Given the description of an element on the screen output the (x, y) to click on. 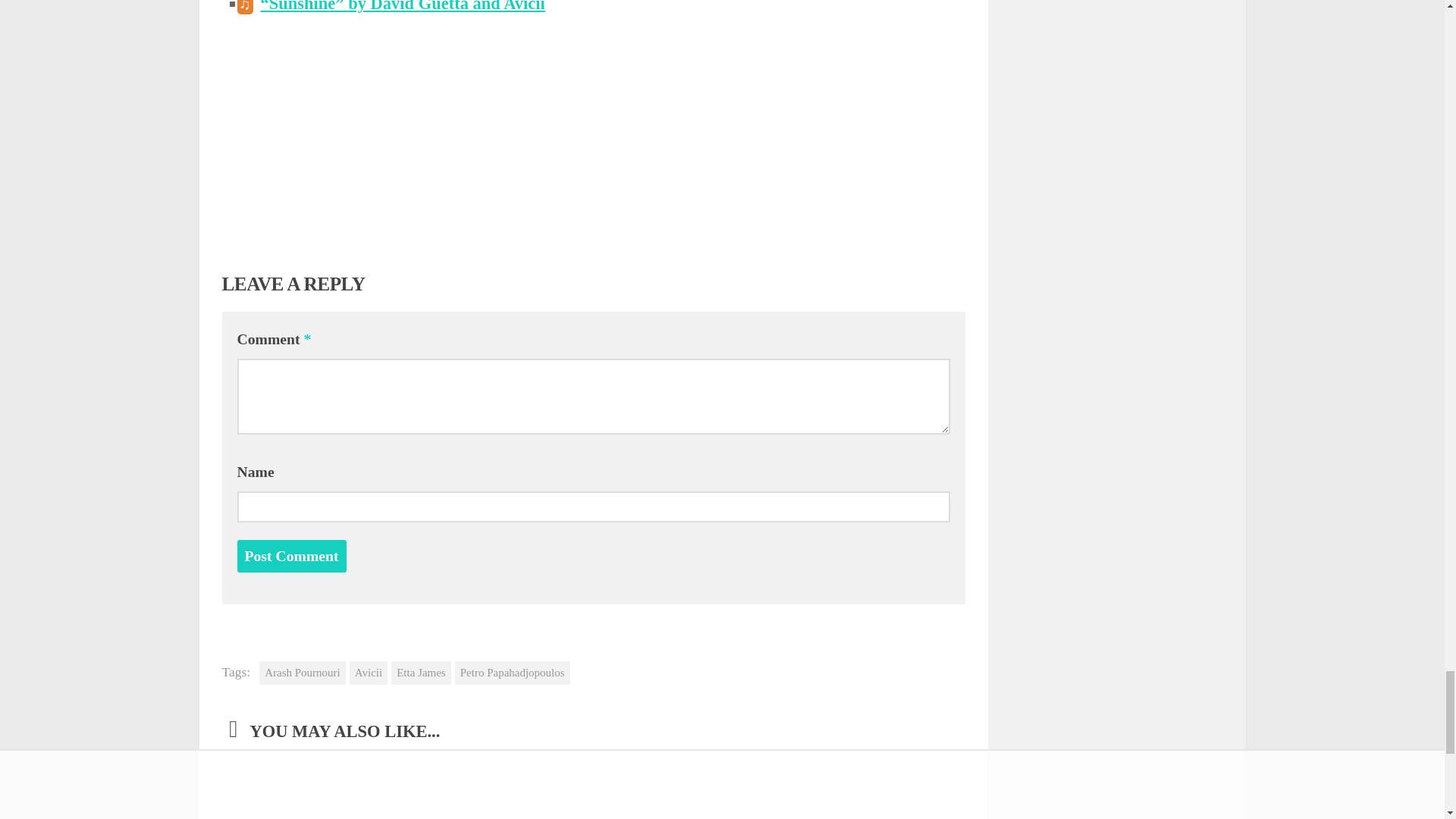
Petro Papahadjopoulos (512, 672)
Arash Pournouri (302, 672)
Etta James (421, 672)
Post Comment (290, 555)
Avicii (368, 672)
Post Comment (290, 555)
